Given the description of an element on the screen output the (x, y) to click on. 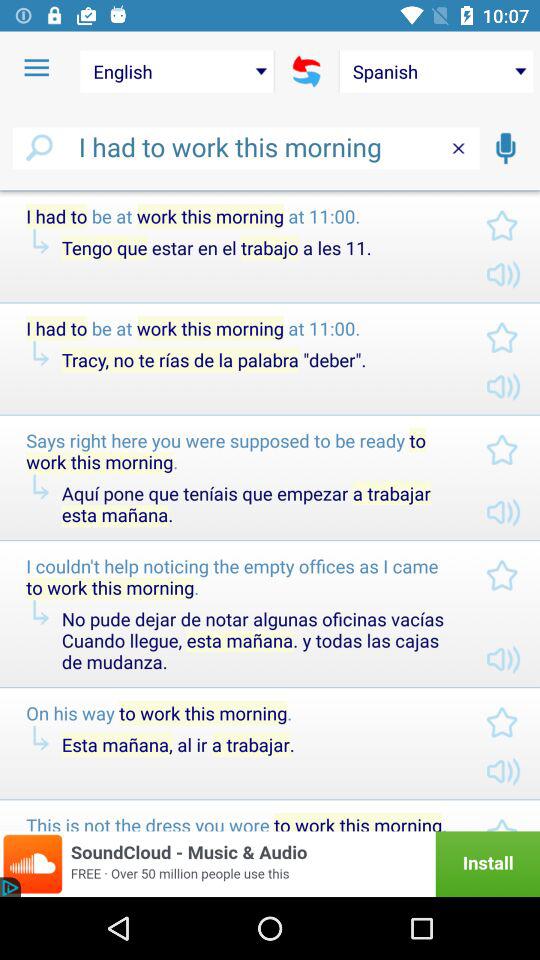
select delete option (458, 148)
